Given the description of an element on the screen output the (x, y) to click on. 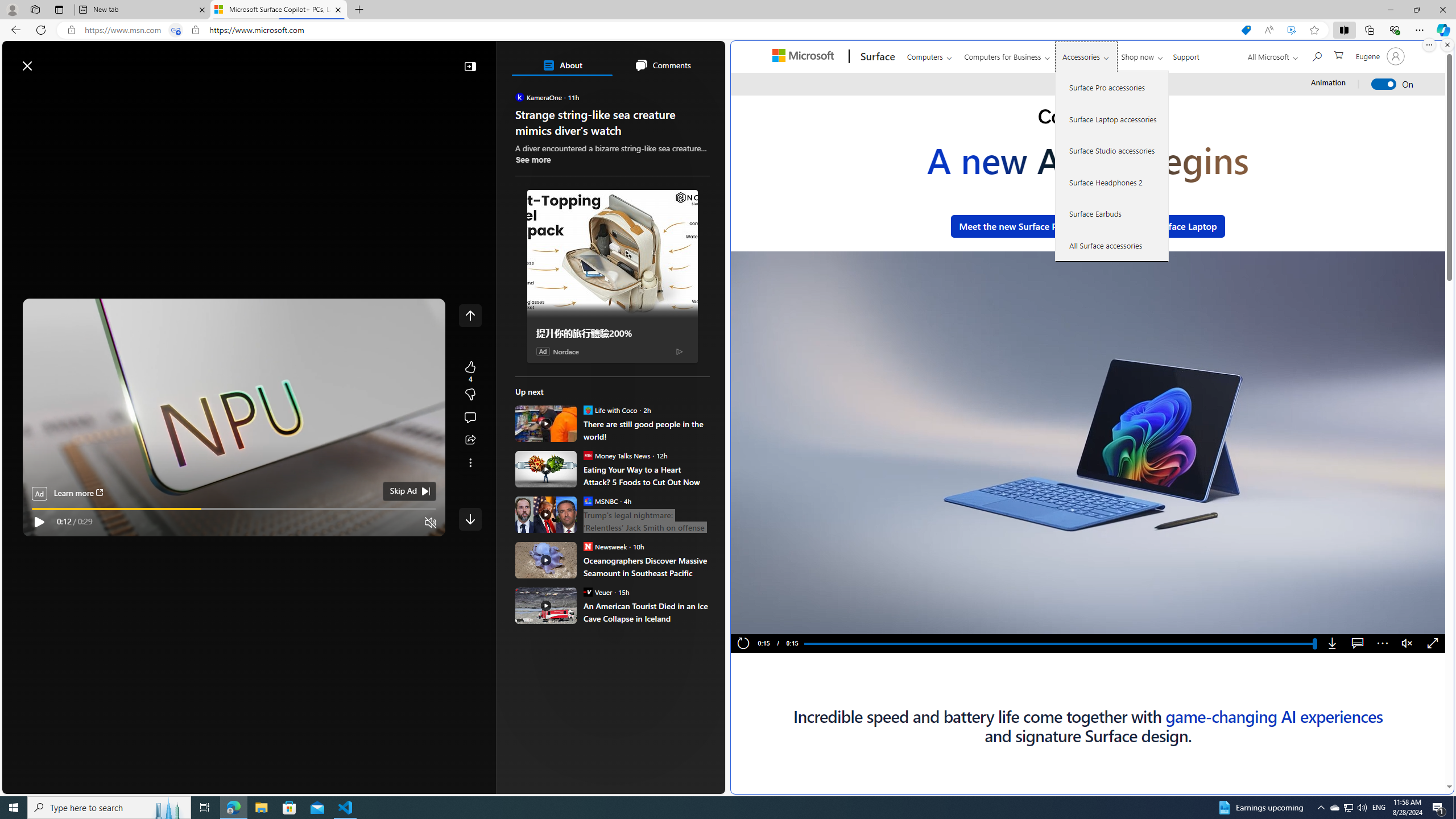
ABC News (554, 415)
Ad Choice (678, 350)
Surface Pro accessories (1112, 87)
Surface Headphones 2 (1112, 182)
video progress bar (234, 509)
Surface Laptop accessories (1112, 119)
